Given the description of an element on the screen output the (x, y) to click on. 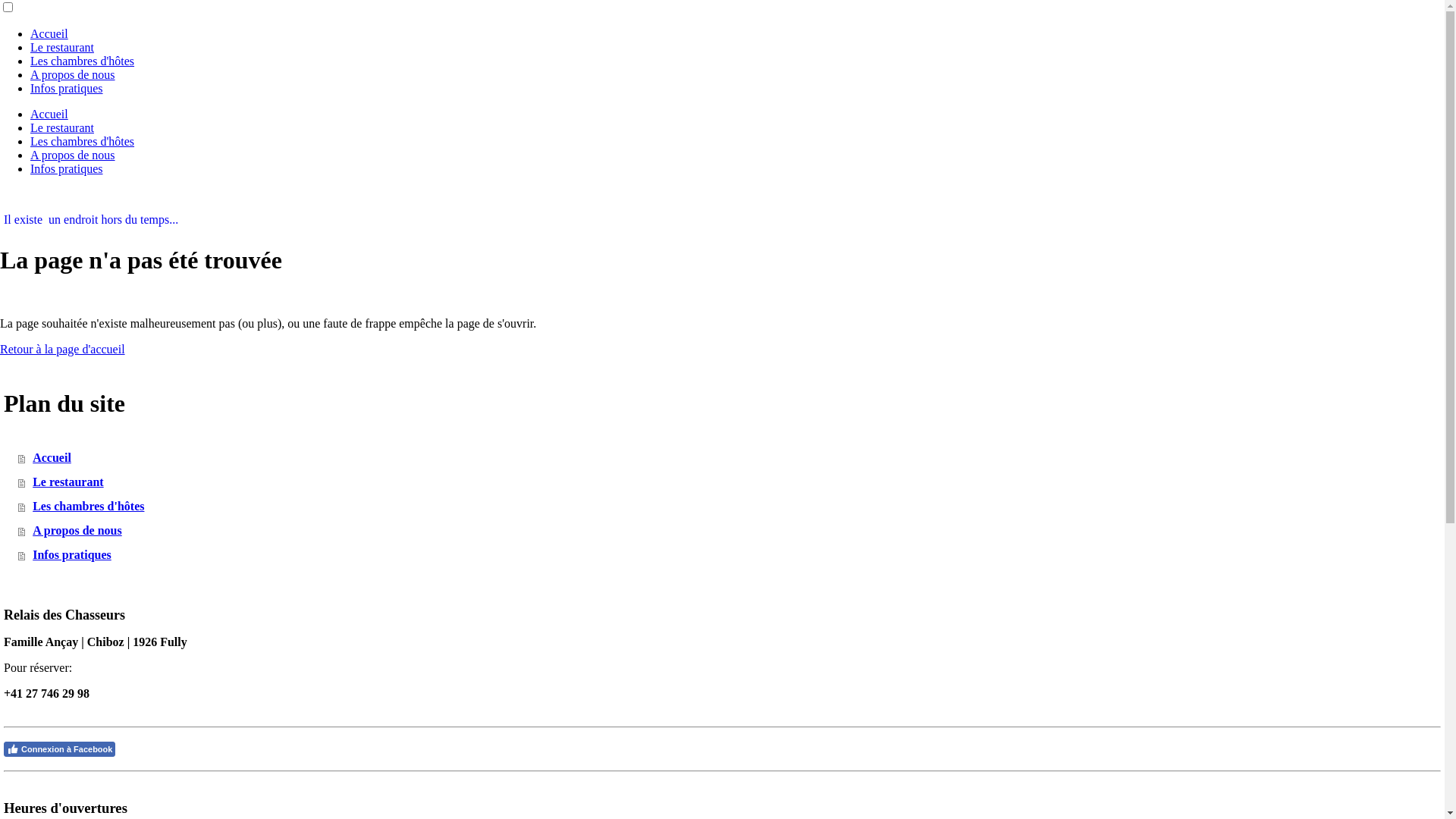
Infos pratiques Element type: text (66, 168)
Le restaurant Element type: text (62, 127)
Infos pratiques Element type: text (66, 87)
A propos de nous Element type: text (72, 154)
Infos pratiques Element type: text (731, 554)
Il existe  un endroit hors du temps... Element type: text (721, 219)
Accueil Element type: text (49, 33)
Accueil Element type: text (49, 113)
A propos de nous Element type: text (731, 530)
A propos de nous Element type: text (72, 74)
Le restaurant Element type: text (731, 482)
Accueil Element type: text (731, 457)
Le restaurant Element type: text (62, 46)
